Given the description of an element on the screen output the (x, y) to click on. 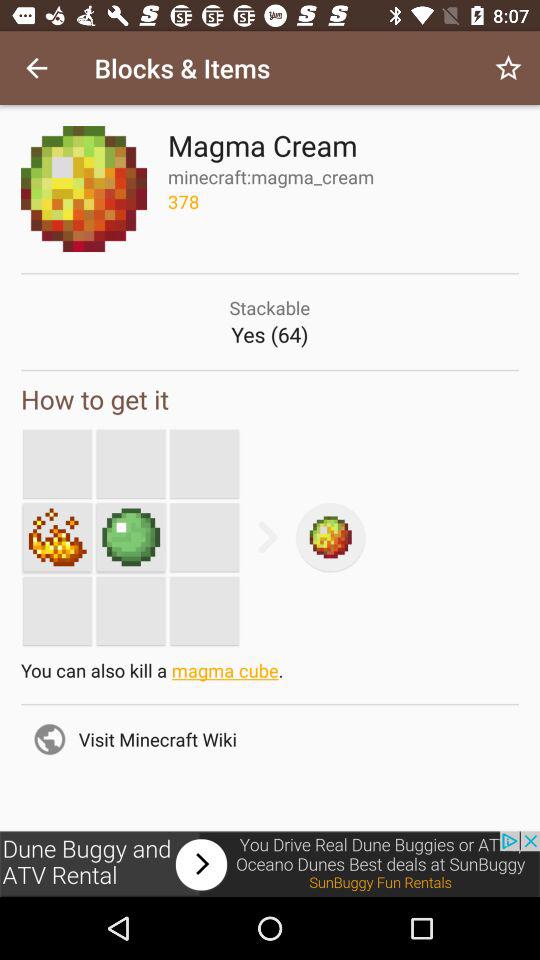
advertisement (270, 864)
